Given the description of an element on the screen output the (x, y) to click on. 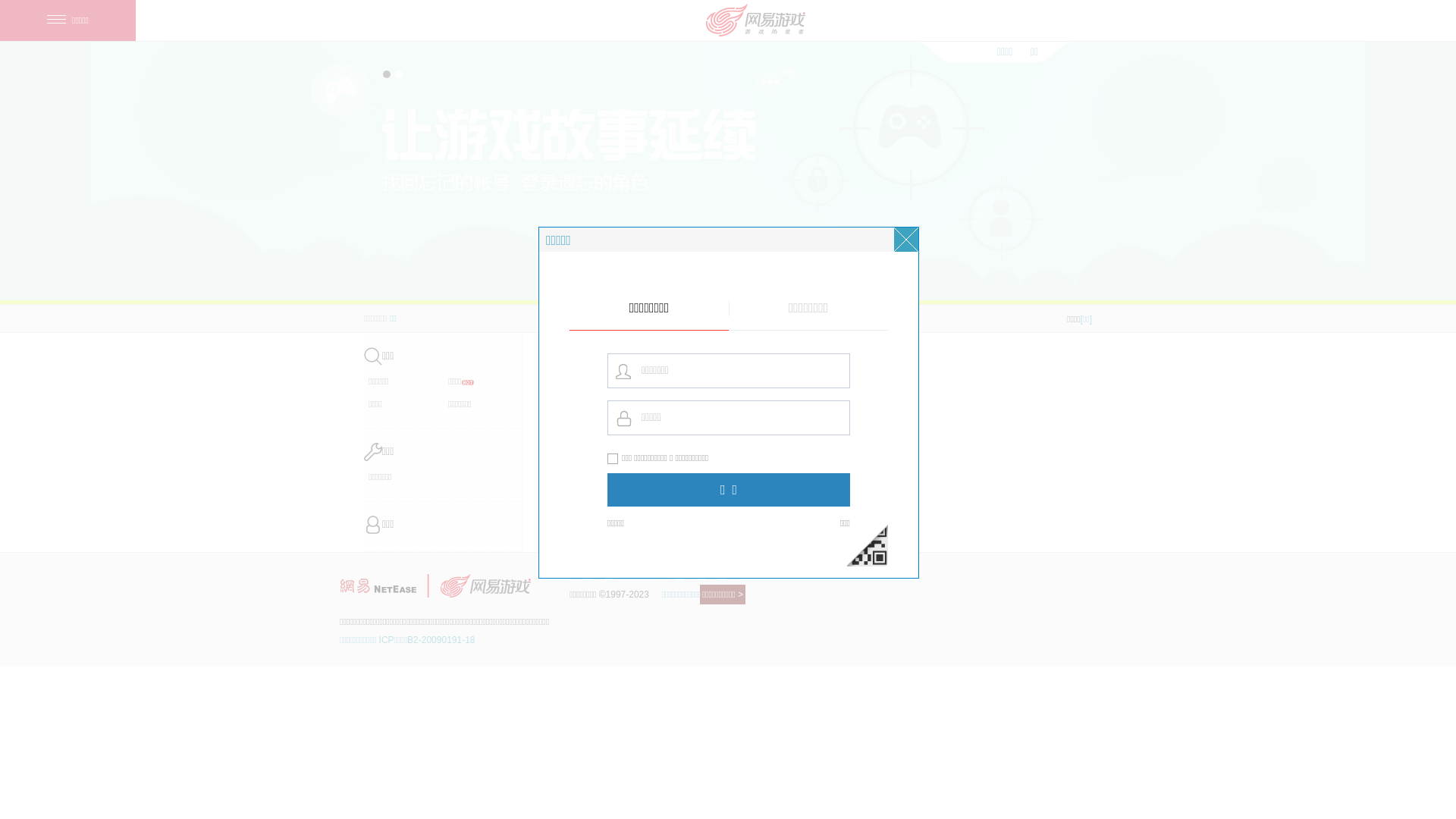
0 Element type: text (824, 328)
0 Element type: text (921, 328)
0 Element type: text (726, 328)
0 Element type: text (532, 328)
0 Element type: text (629, 328)
0 Element type: text (435, 328)
